Given the description of an element on the screen output the (x, y) to click on. 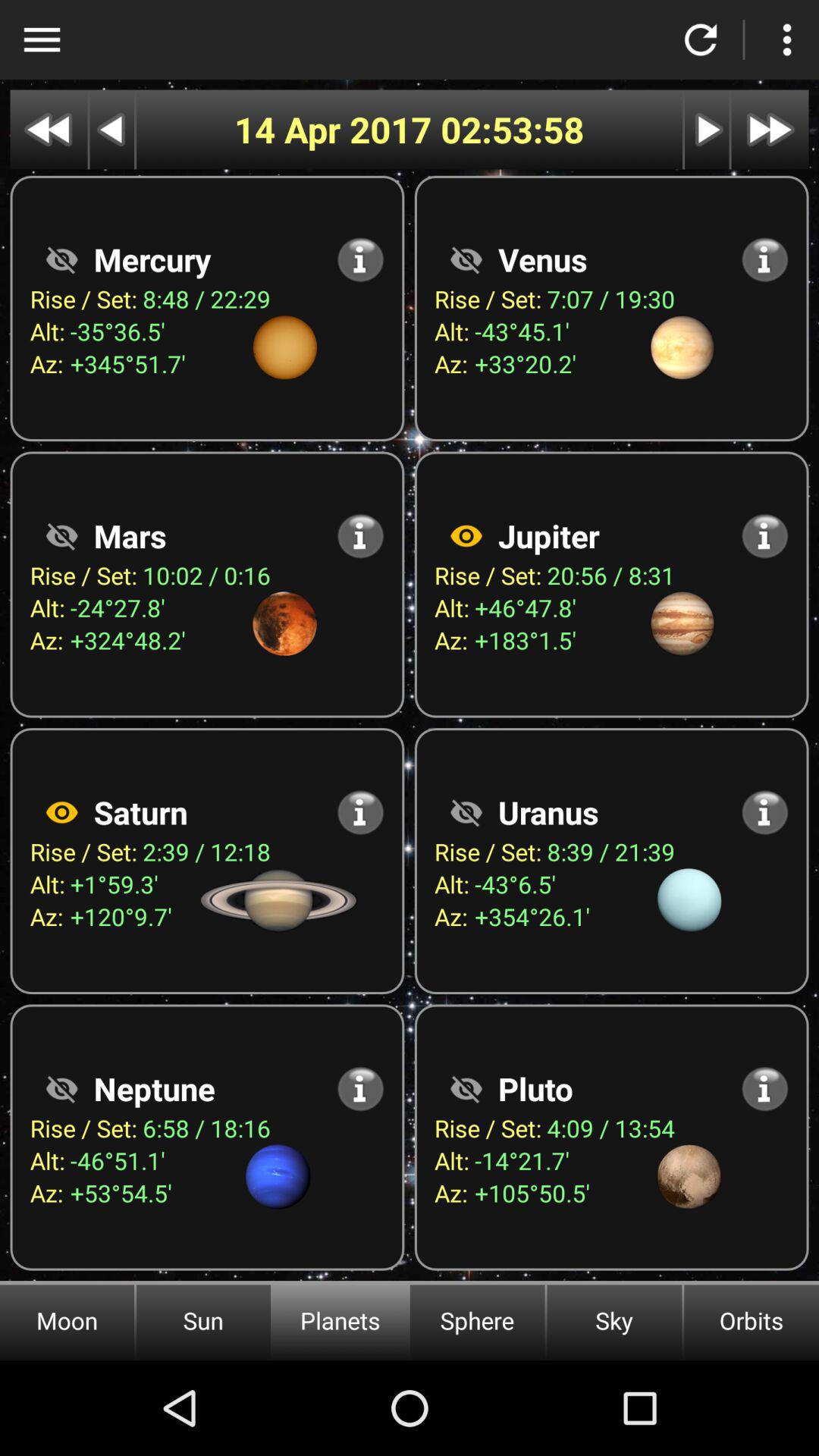
more information (764, 259)
